Given the description of an element on the screen output the (x, y) to click on. 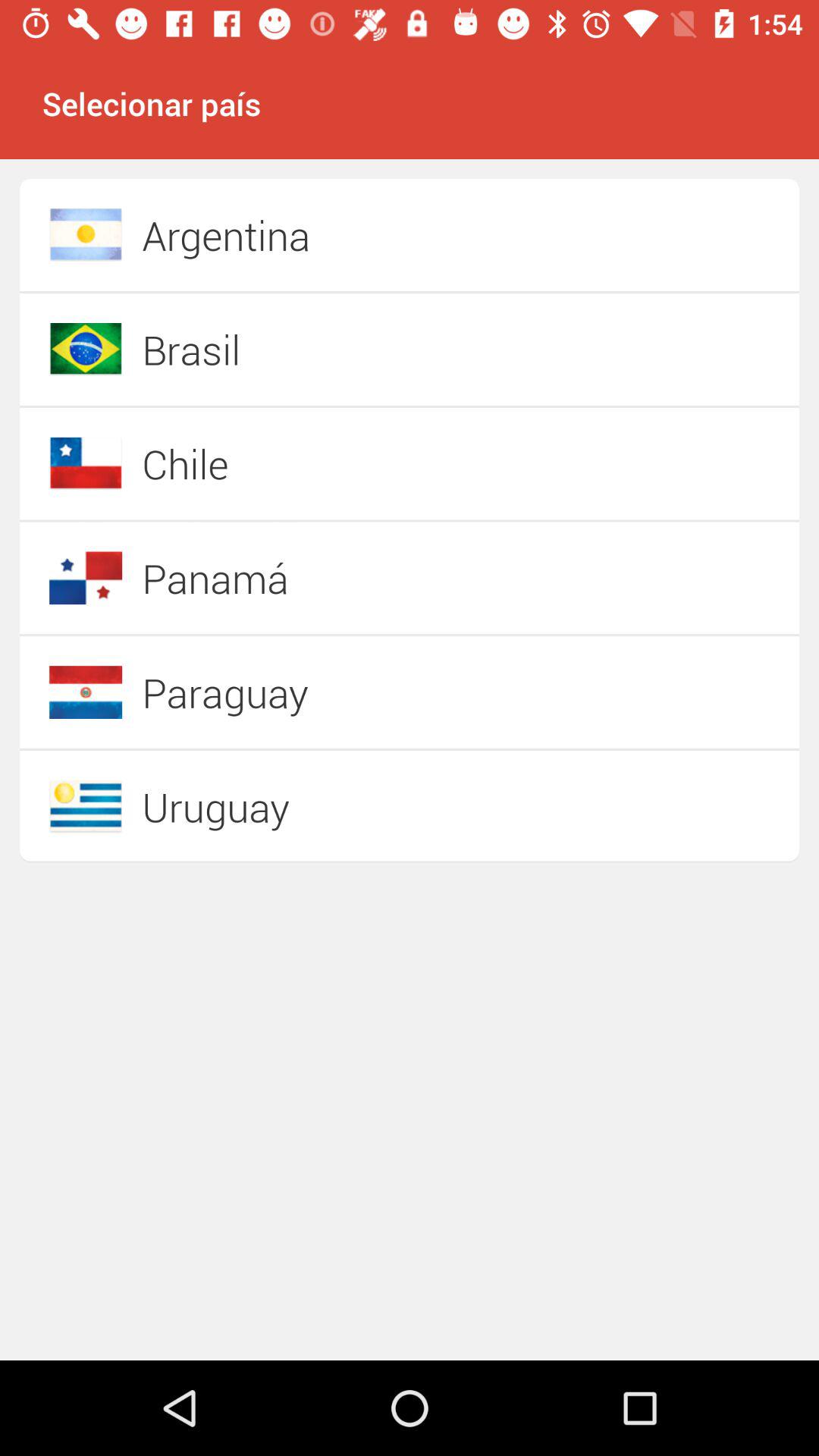
click item above chile item (356, 349)
